Given the description of an element on the screen output the (x, y) to click on. 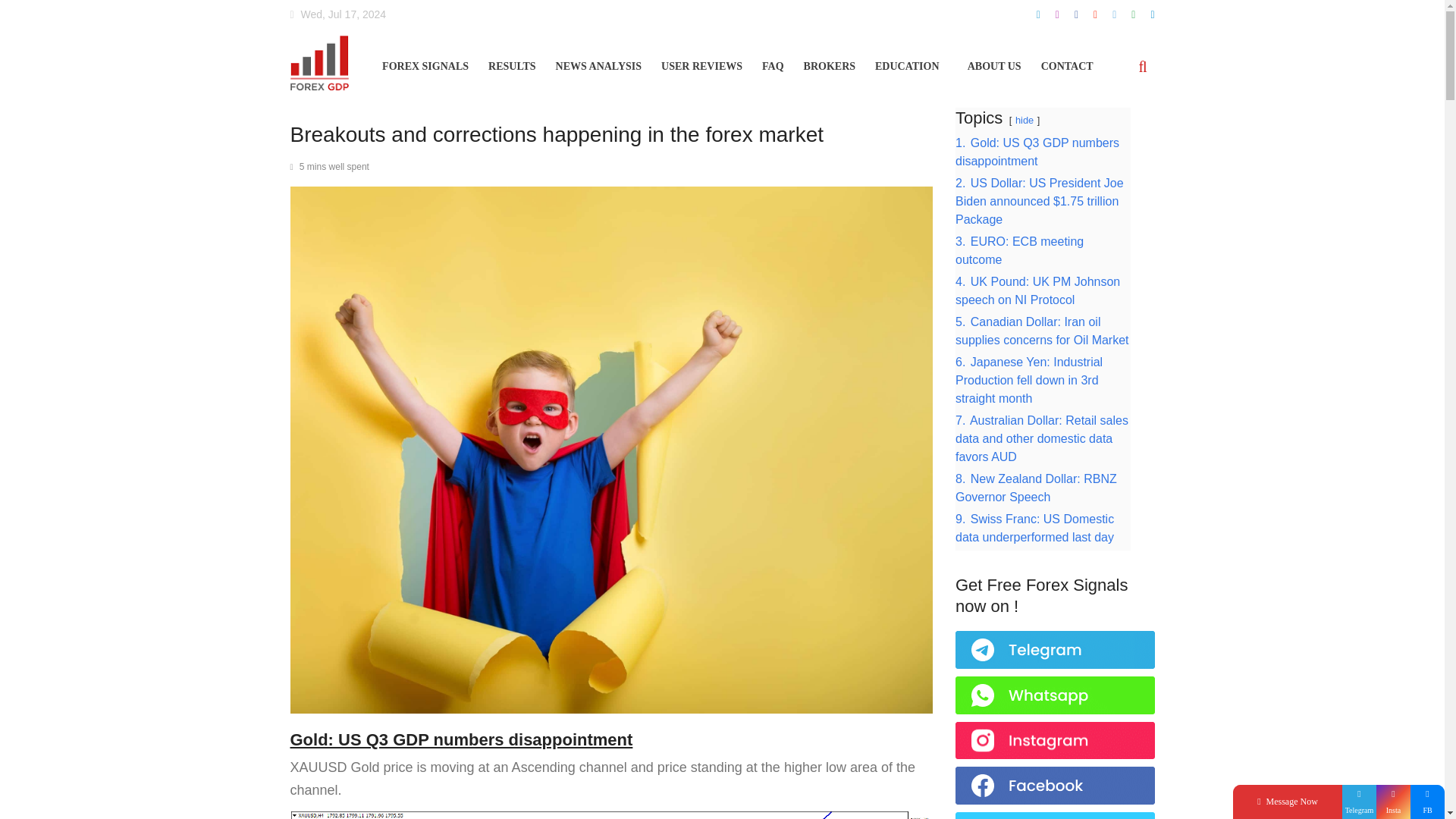
NEWS ANALYSIS (599, 61)
USER REVIEWS (701, 61)
FOREX SIGNALS (424, 61)
RESULTS (511, 61)
FAQ (772, 61)
ABOUT US (995, 61)
BROKERS (829, 61)
CONTACT (1067, 61)
EDUCATION (911, 61)
